Given the description of an element on the screen output the (x, y) to click on. 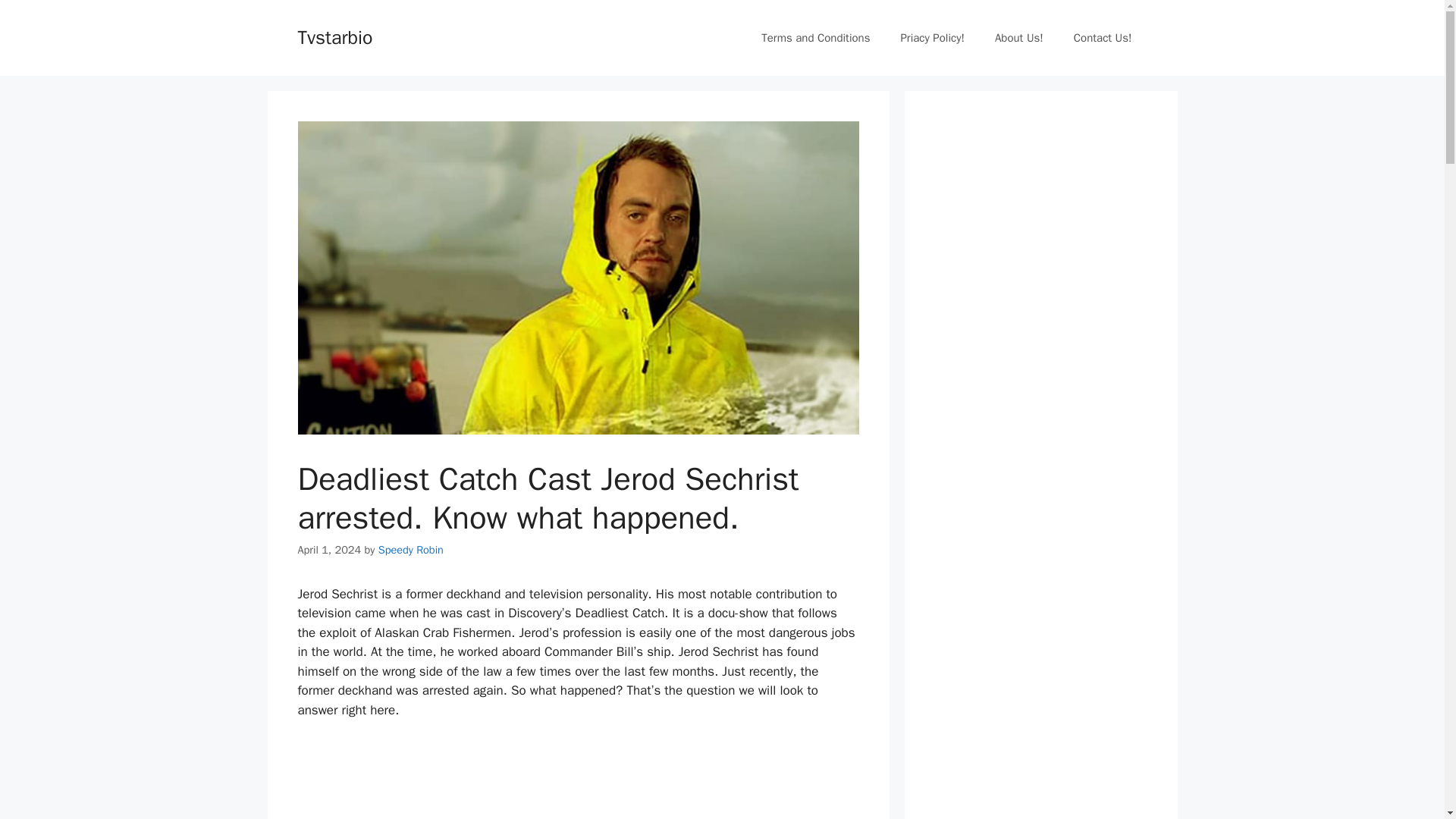
Contact Us! (1102, 37)
Priacy Policy! (932, 37)
Tvstarbio (334, 37)
View all posts by Speedy Robin (411, 549)
About Us! (1018, 37)
Speedy Robin (411, 549)
Terms and Conditions (815, 37)
